Given the description of an element on the screen output the (x, y) to click on. 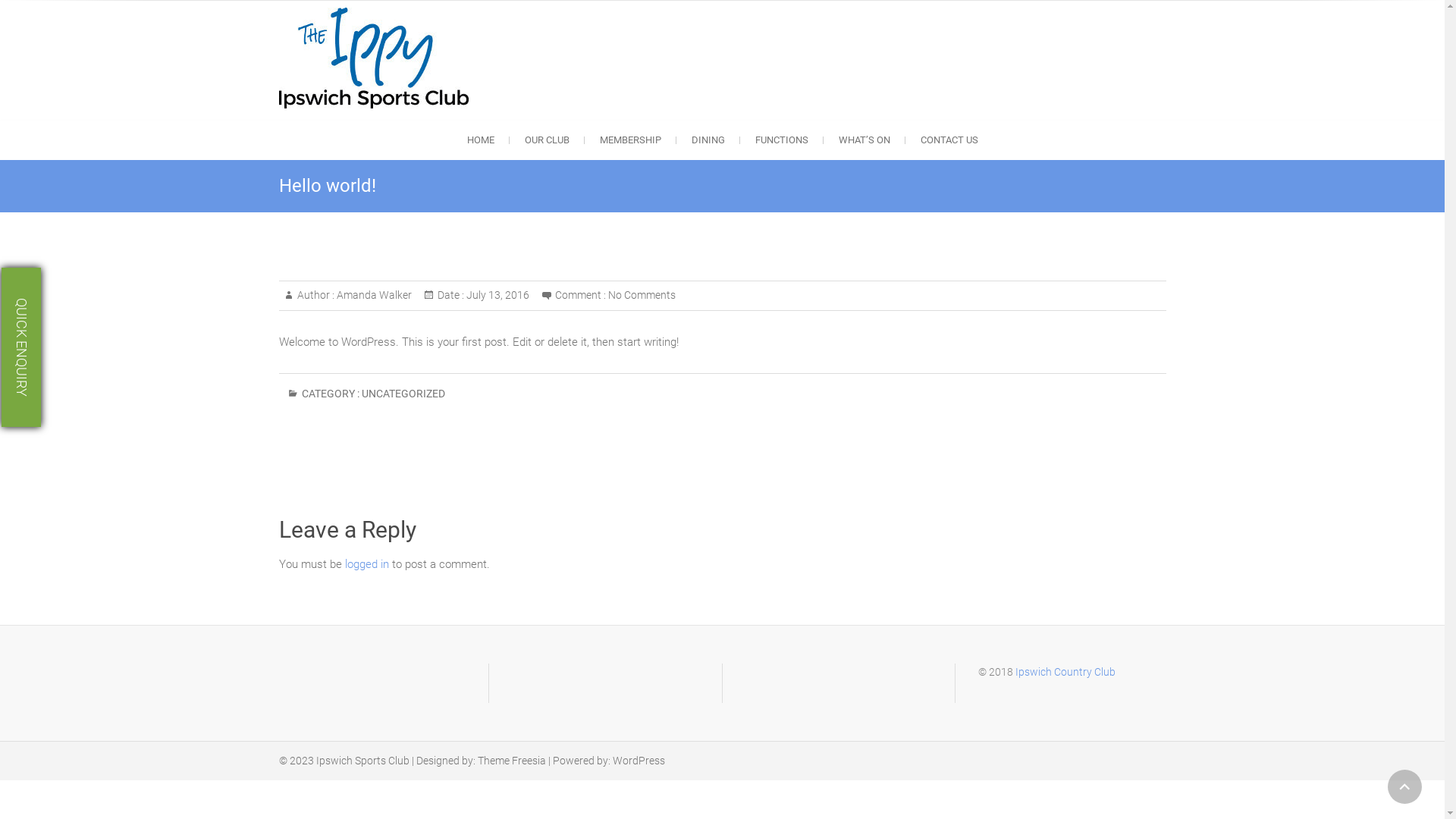
No Comments Element type: text (641, 294)
WordPress Element type: text (638, 760)
QUICK ENQUIRY Element type: text (80, 287)
HOME Element type: text (480, 140)
Ipswich Country Club Element type: text (1065, 671)
FUNCTIONS Element type: text (781, 140)
MEMBERSHIP Element type: text (629, 140)
OUR CLUB Element type: text (546, 140)
Ipswich Sports Club Element type: text (361, 760)
UNCATEGORIZED Element type: text (402, 399)
logged in Element type: text (366, 564)
Theme Freesia Element type: text (511, 760)
Amanda Walker Element type: text (372, 294)
July 13, 2016 Element type: text (496, 294)
Go to Top Element type: hover (1404, 786)
CONTACT US Element type: text (949, 140)
Ipswich Sports Club Element type: hover (377, 57)
DINING Element type: text (708, 140)
Ipswich Sports Club Element type: text (559, 128)
